Given the description of an element on the screen output the (x, y) to click on. 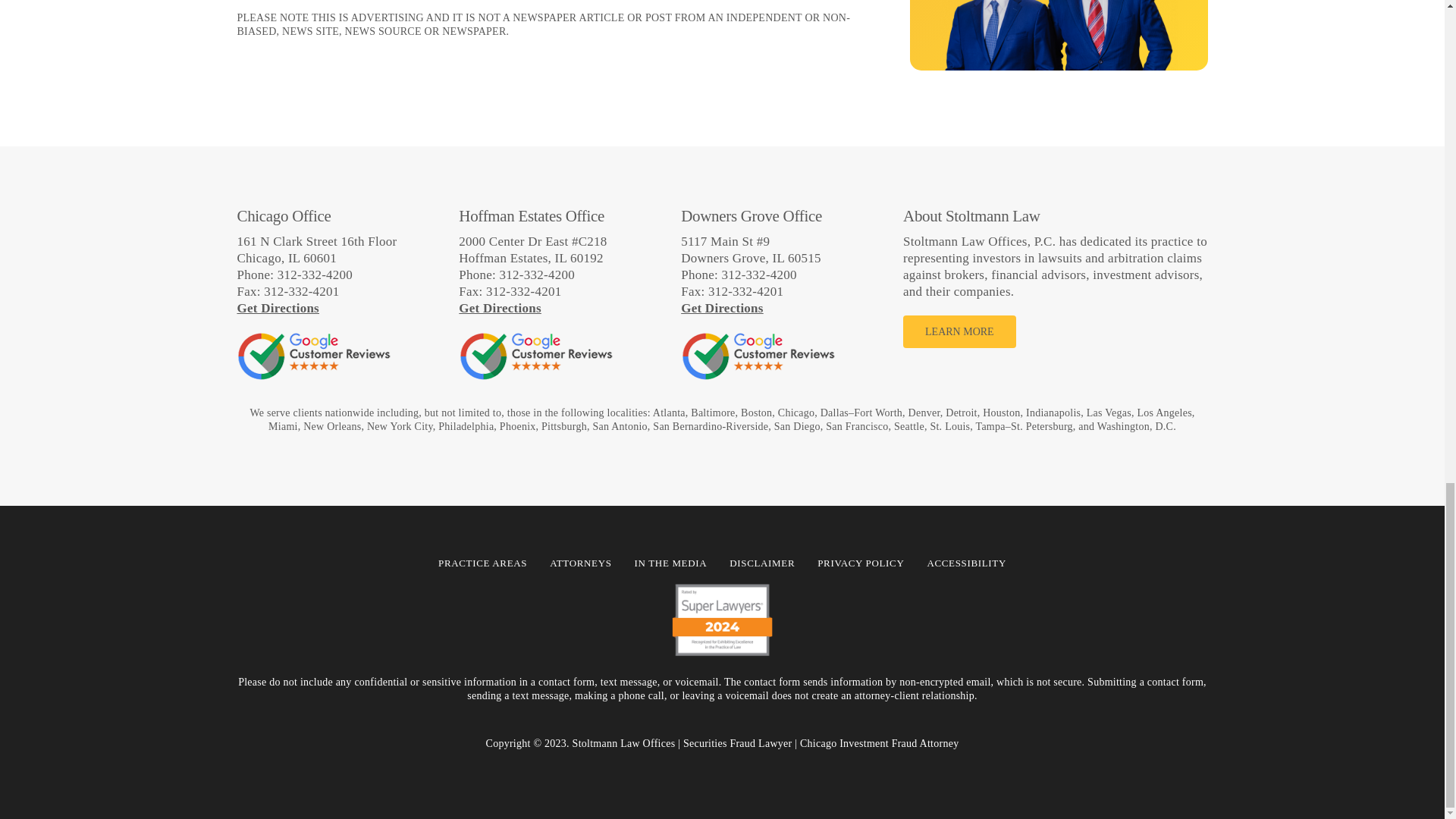
Google Customer Reviews (535, 356)
